Given the description of an element on the screen output the (x, y) to click on. 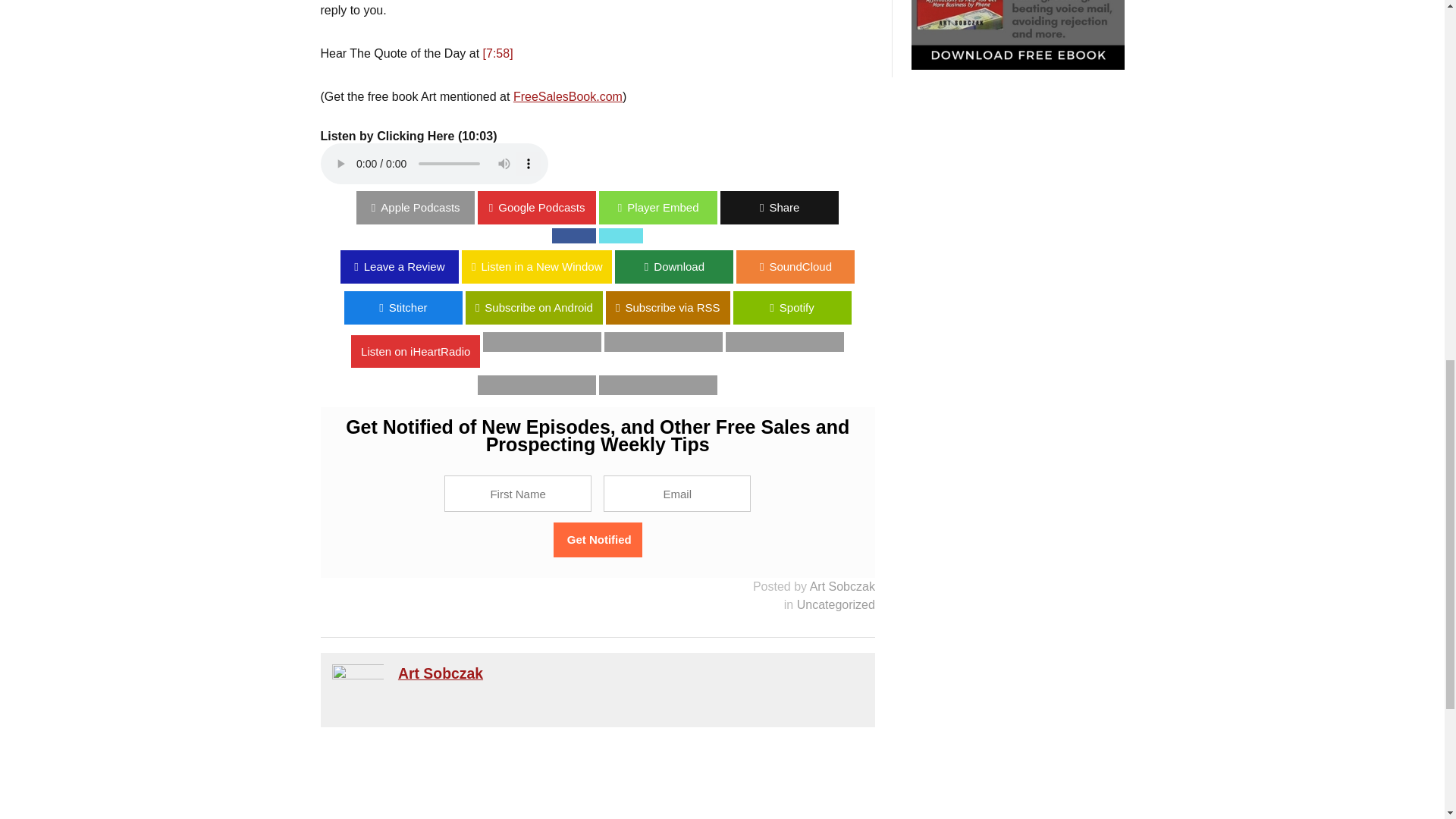
Share on Twitter (620, 235)
Share on Facebook (573, 235)
 Get Notified (597, 539)
Art Sobczak (842, 585)
Spotify (58, 307)
FreeSalesBook.com (568, 96)
Subscribe on Android (528, 307)
 Get Notified (597, 539)
Apple Podcasts (58, 207)
Art Sobczak (440, 673)
Leave a Review (58, 266)
Listen on iHeartRadio (597, 348)
Listen in a New Window (75, 266)
Stitcher (398, 307)
Download (673, 266)
